Given the description of an element on the screen output the (x, y) to click on. 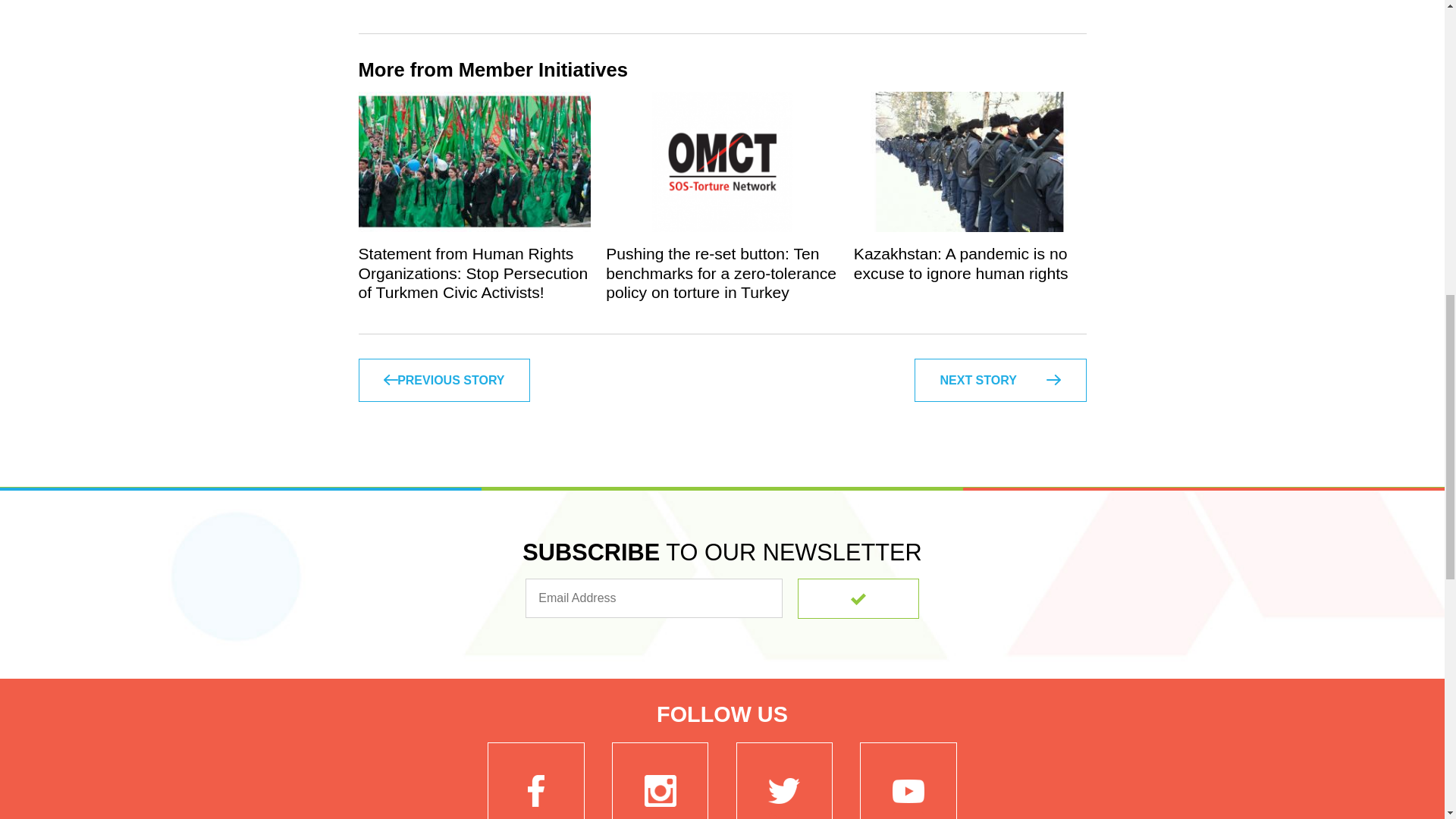
Next story (1000, 380)
Subscribe (857, 598)
Previous story (443, 380)
